Given the description of an element on the screen output the (x, y) to click on. 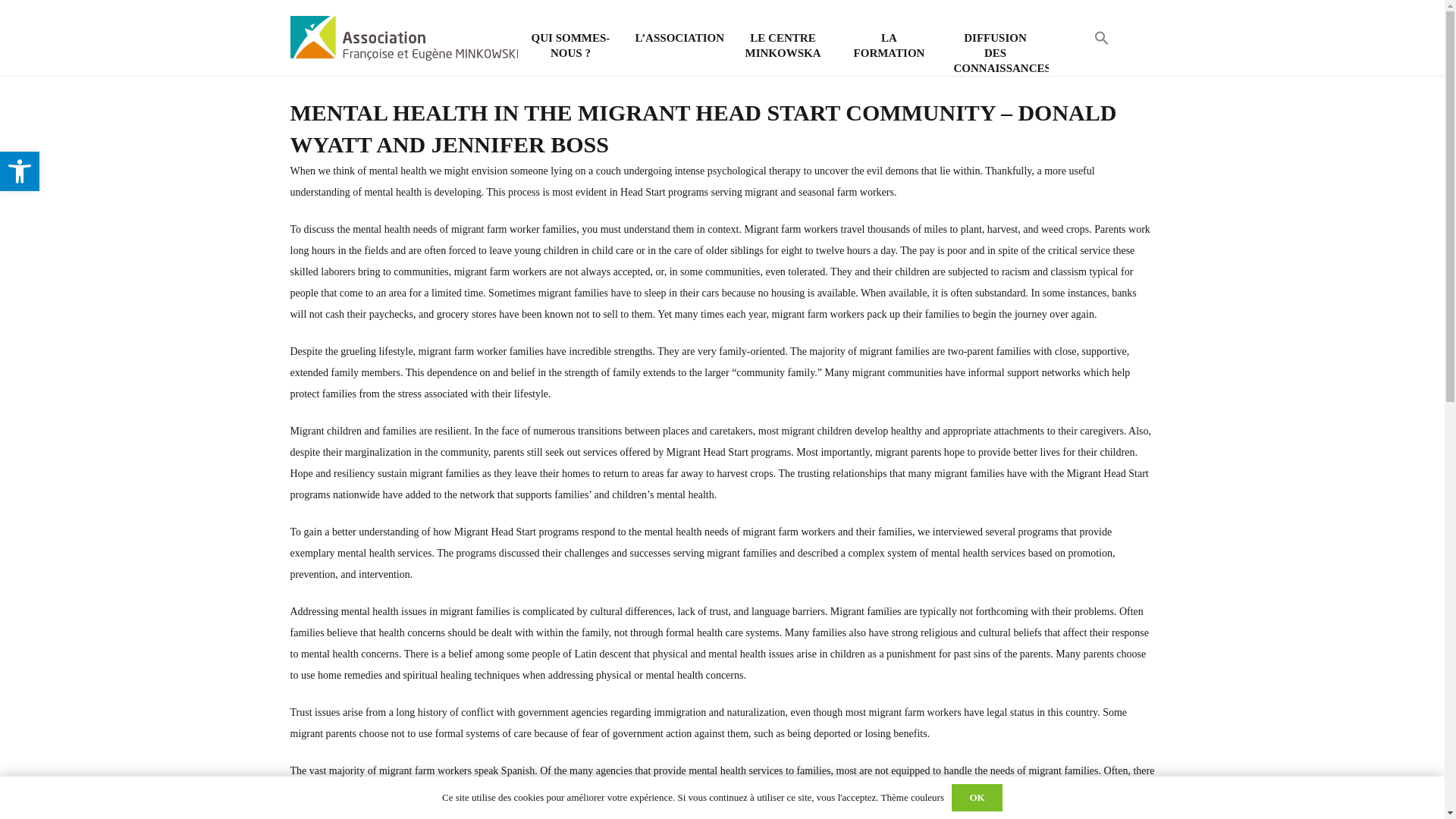
QUI SOMMES-NOUS ? (569, 45)
DIFFUSION DES CONNAISSANCES (995, 53)
LA FORMATION (888, 45)
LE CENTRE MINKOWSKA (782, 45)
